Given the description of an element on the screen output the (x, y) to click on. 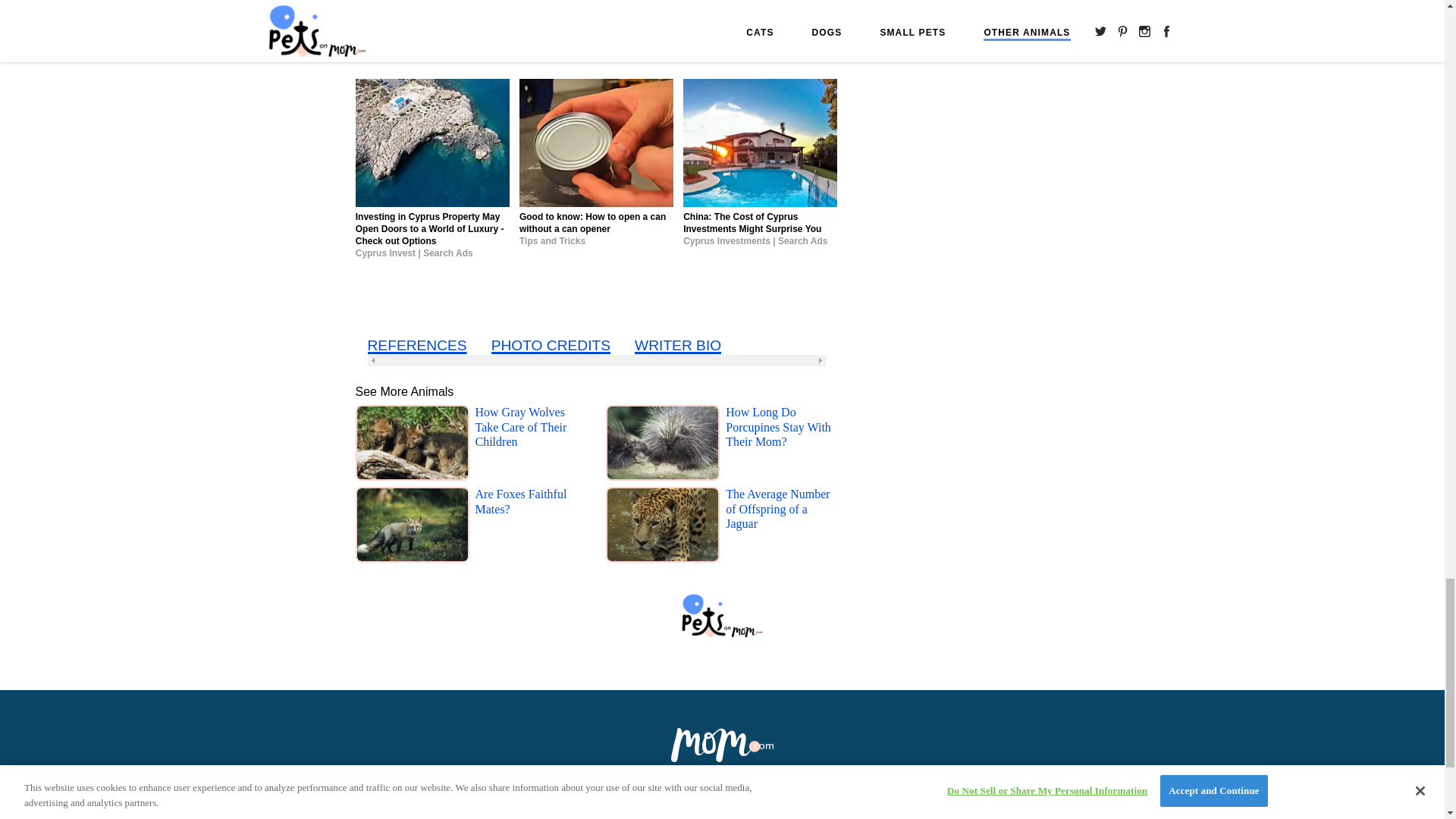
Play Now (645, 13)
